Given the description of an element on the screen output the (x, y) to click on. 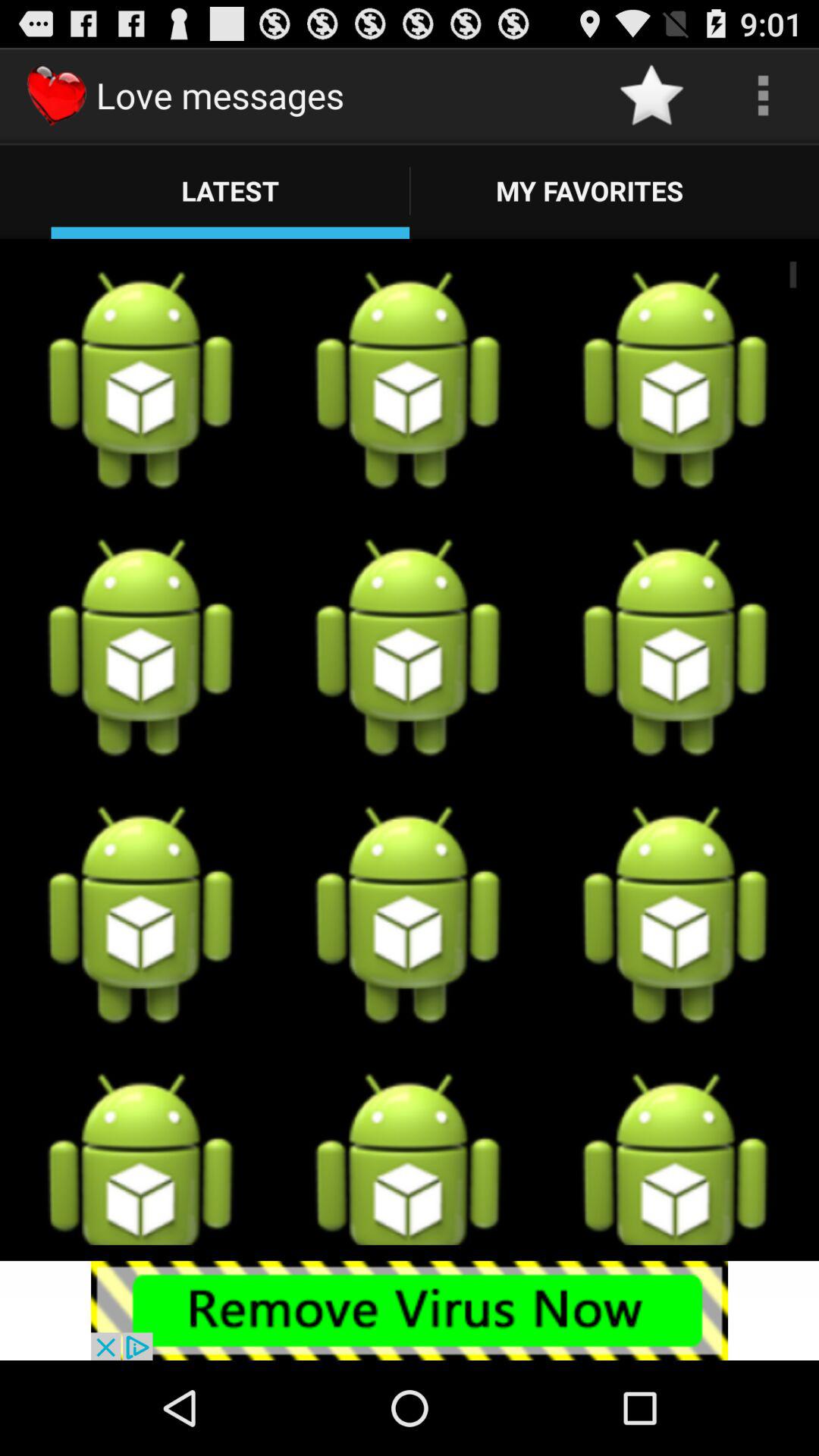
see menu (763, 95)
